Given the description of an element on the screen output the (x, y) to click on. 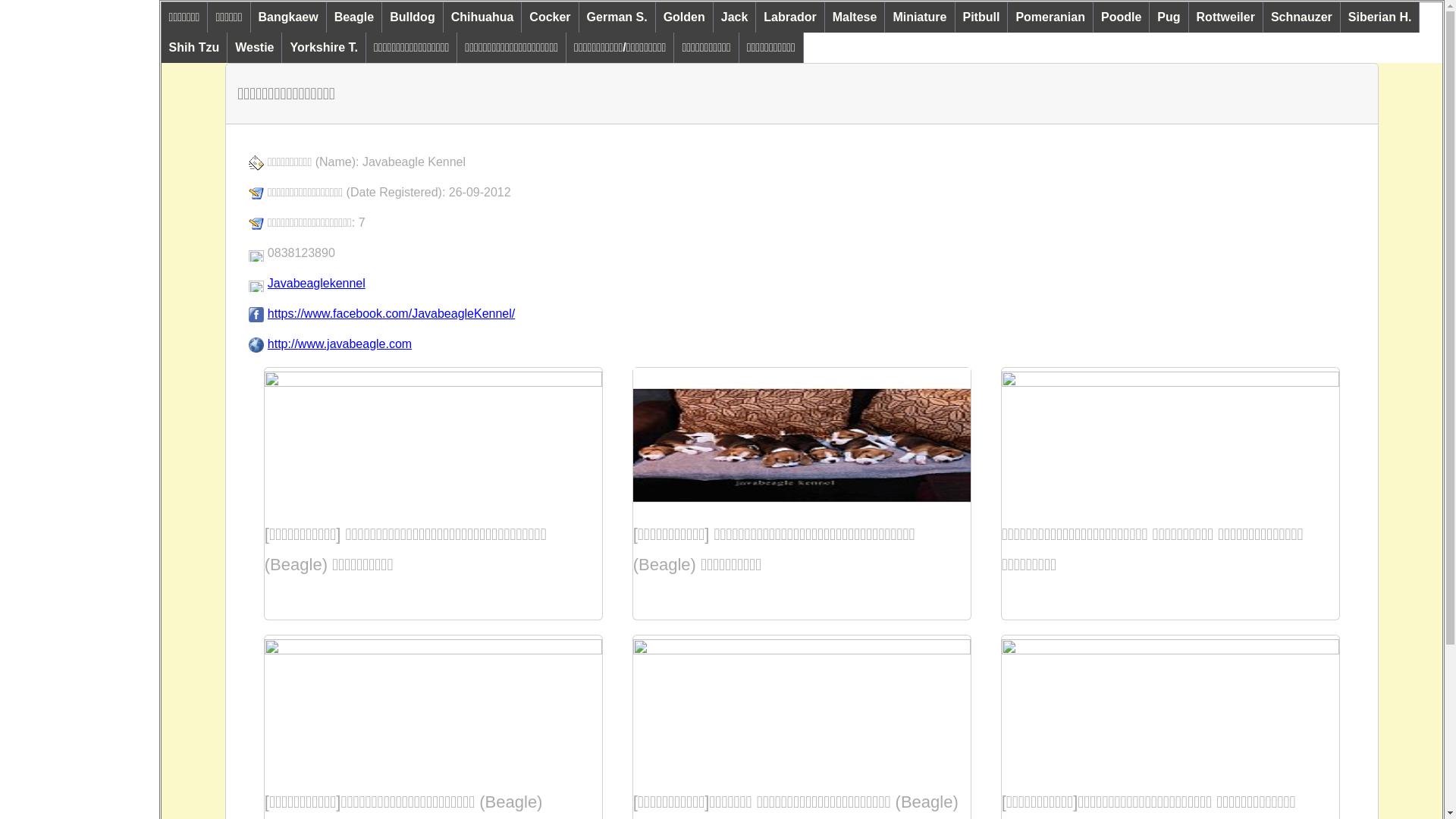
Bulldog Element type: text (412, 17)
Maltese Element type: text (855, 17)
Miniature Element type: text (919, 17)
Golden Element type: text (684, 17)
Shih Tzu Element type: text (194, 47)
Siberian H. Element type: text (1380, 17)
Pitbull Element type: text (981, 17)
Rottweiler Element type: text (1226, 17)
Pug Element type: text (1168, 17)
Javabeaglekennel Element type: text (316, 282)
Westie Element type: text (254, 47)
Labrador Element type: text (790, 17)
Yorkshire T. Element type: text (324, 47)
Bangkaew Element type: text (288, 17)
German S. Element type: text (617, 17)
https://www.facebook.com/JavabeagleKennel/ Element type: text (390, 313)
Pomeranian Element type: text (1050, 17)
Cocker Element type: text (549, 17)
Schnauzer Element type: text (1301, 17)
0838123890 Element type: text (301, 252)
Poodle Element type: text (1121, 17)
Beagle Element type: text (354, 17)
Jack Element type: text (734, 17)
Javabeagle Kennel Element type: text (413, 161)
http://www.javabeagle.com Element type: text (339, 343)
Chihuahua Element type: text (482, 17)
